Given the description of an element on the screen output the (x, y) to click on. 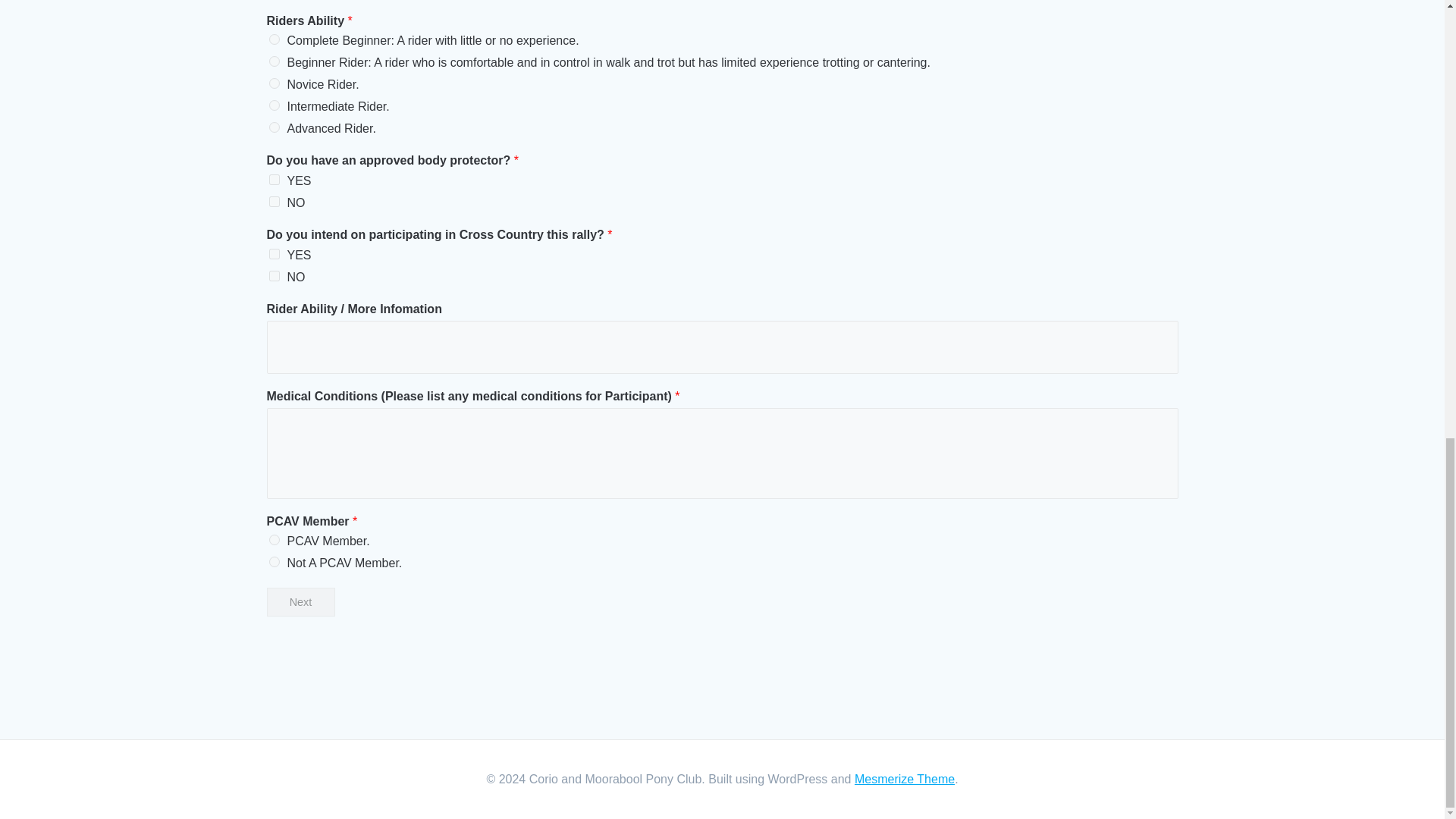
NO (273, 276)
Complete Beginner: A rider with little or no experience. (273, 39)
NO (273, 201)
Intermediate Rider. (273, 104)
YES (273, 253)
YES (273, 179)
Novice Rider. (273, 82)
Advanced Rider. (273, 127)
Not A PCAV Member. (273, 561)
PCAV Member. (273, 539)
